Given the description of an element on the screen output the (x, y) to click on. 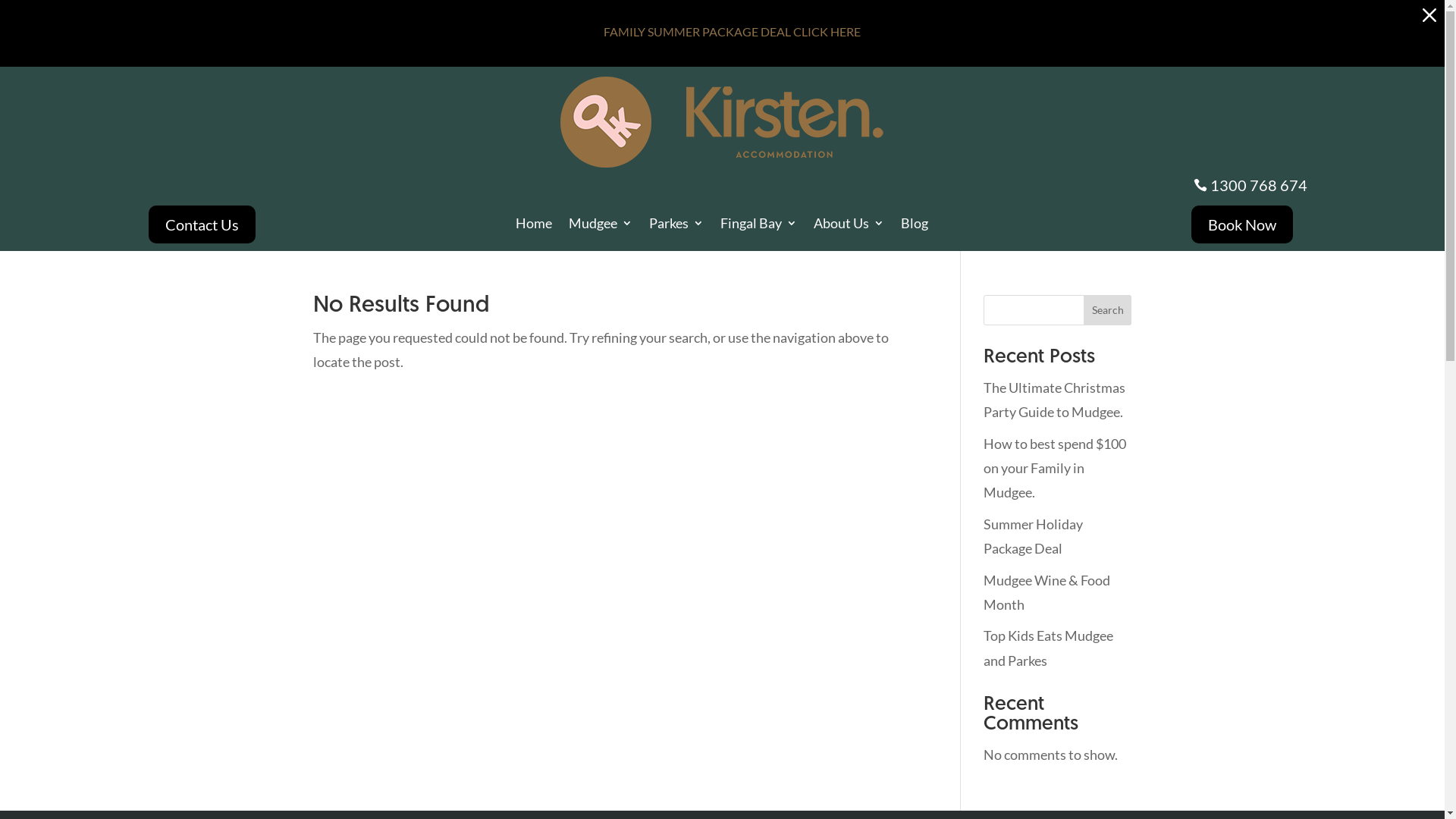
Parkes Element type: text (676, 225)
Fingal Bay Element type: text (758, 225)
Mudgee Wine & Food Month Element type: text (1046, 591)
Summer Holiday Package Deal Element type: text (1032, 535)
Search Element type: text (1107, 309)
The Ultimate Christmas Party Guide to Mudgee. Element type: text (1054, 399)
Top Kids Eats Mudgee and Parkes Element type: text (1048, 647)
Kirsten Accommodation Element type: hover (721, 121)
Contact Us Element type: text (201, 224)
FAMILY SUMMER PACKAGE DEAL CLICK HERE Element type: text (731, 31)
About Us Element type: text (848, 225)
Blog Element type: text (914, 225)
Mudgee Element type: text (600, 225)
Book Now Element type: text (1241, 224)
Home Element type: text (533, 225)
1300 768 674 Element type: text (1257, 184)
How to best spend $100 on your Family in Mudgee. Element type: text (1054, 468)
